Given the description of an element on the screen output the (x, y) to click on. 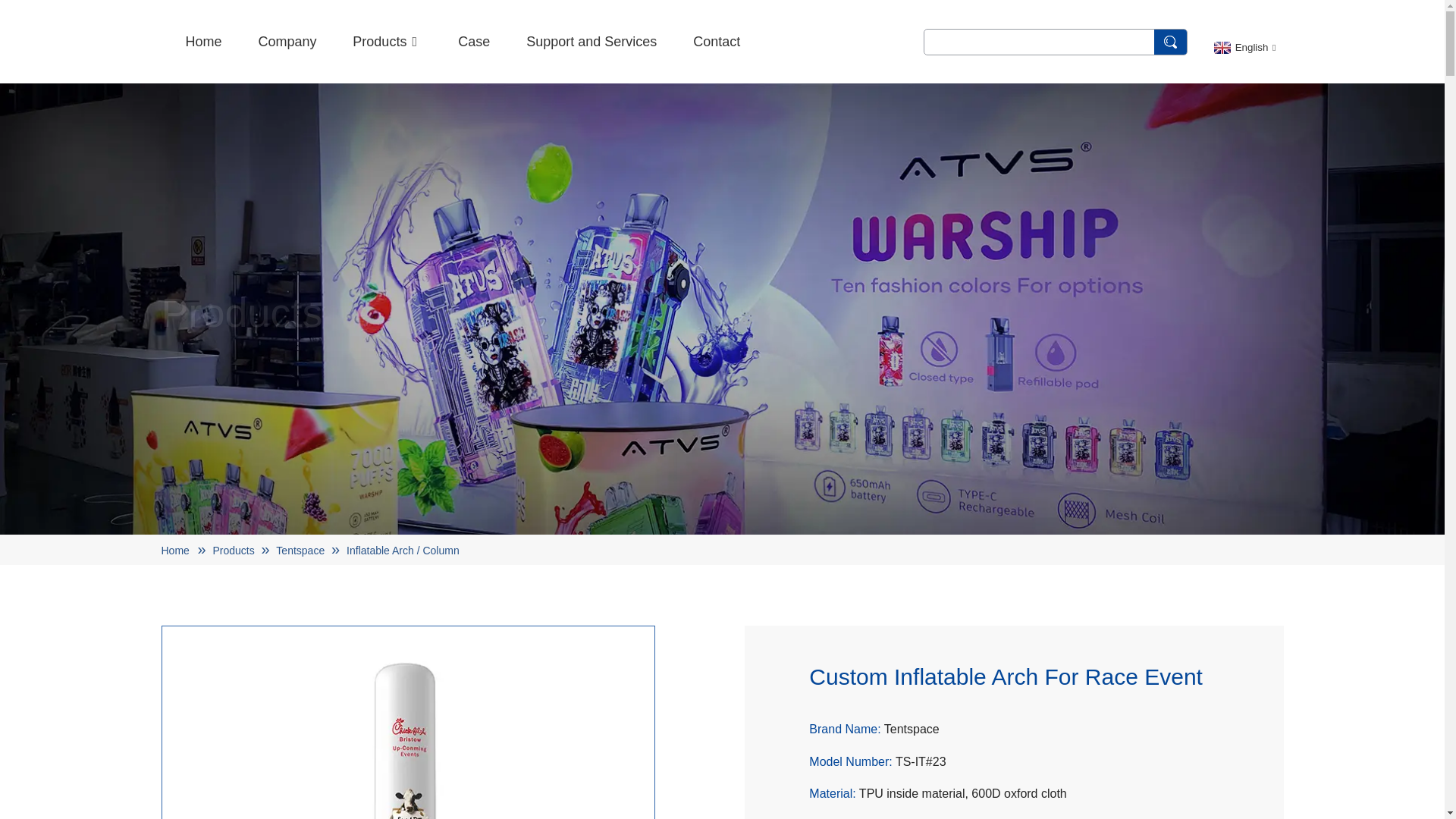
Home (202, 41)
Case (473, 41)
English (1242, 47)
Contact (716, 41)
Company (286, 41)
Products from Guangzhou Milin Outdoor Products Co., Ltd. (387, 41)
Support and Services (590, 41)
Products (387, 41)
